Given the description of an element on the screen output the (x, y) to click on. 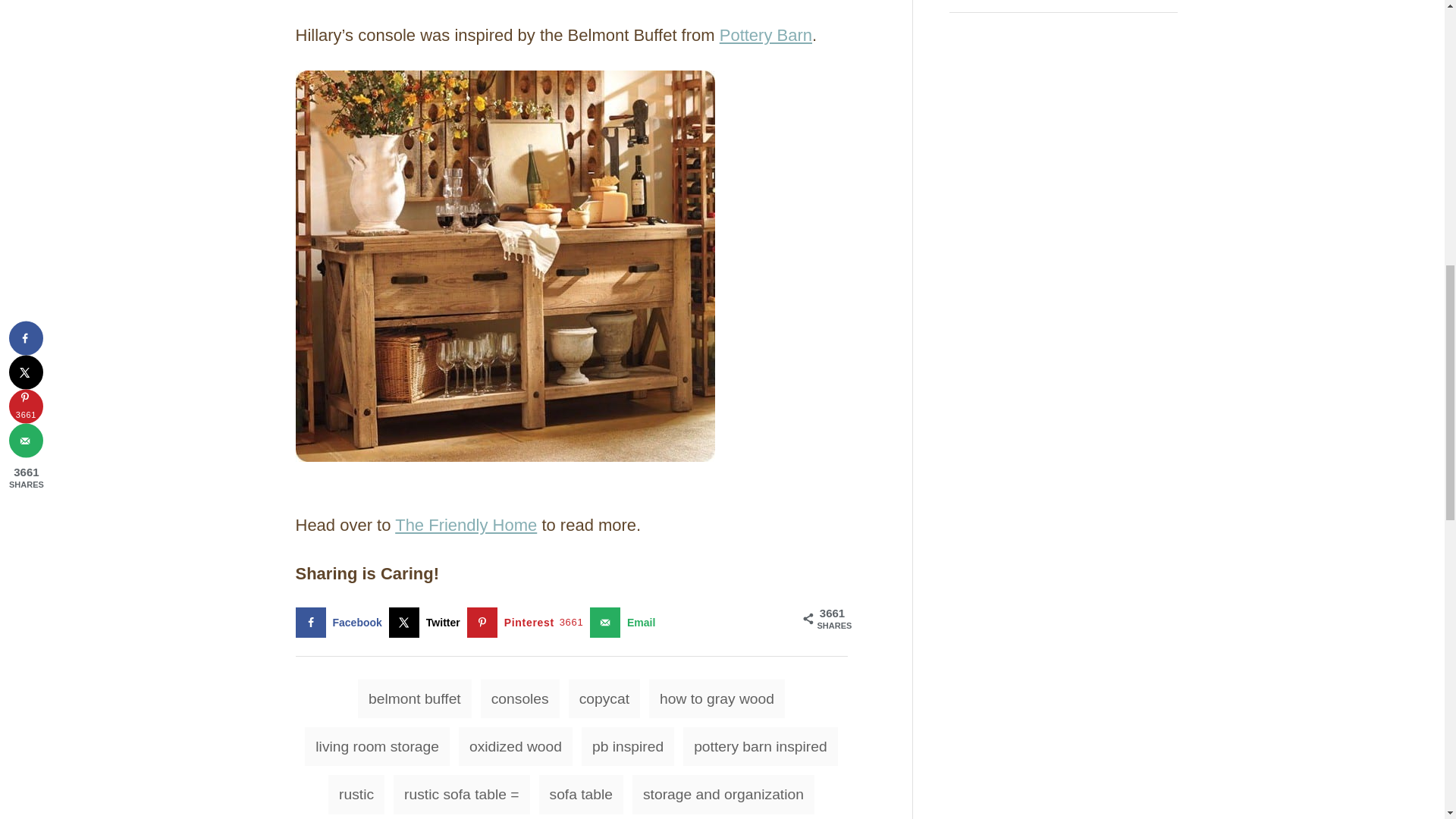
Send over email (625, 622)
Share on X (427, 622)
Save to Pinterest (528, 622)
Share on Facebook (341, 622)
